Given the description of an element on the screen output the (x, y) to click on. 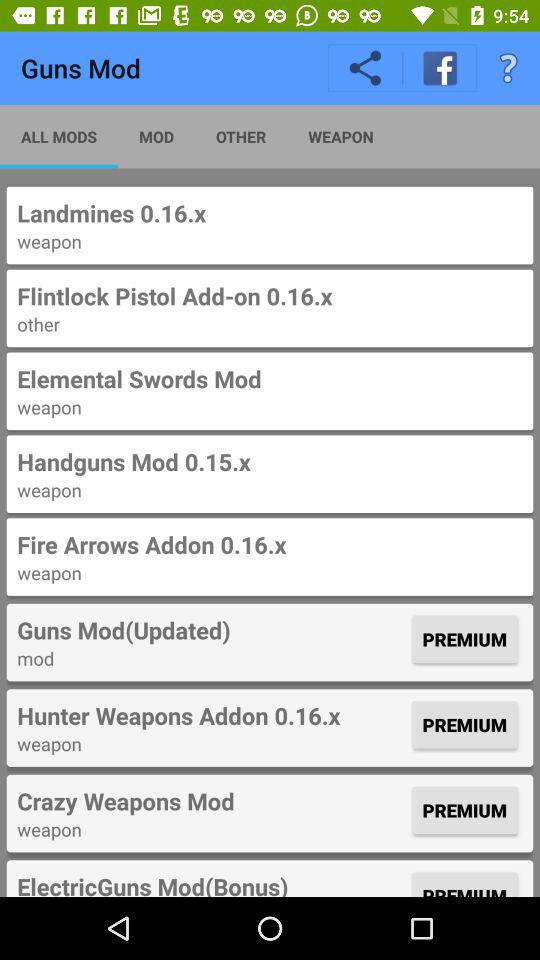
choose the item to the left of premium (211, 883)
